Given the description of an element on the screen output the (x, y) to click on. 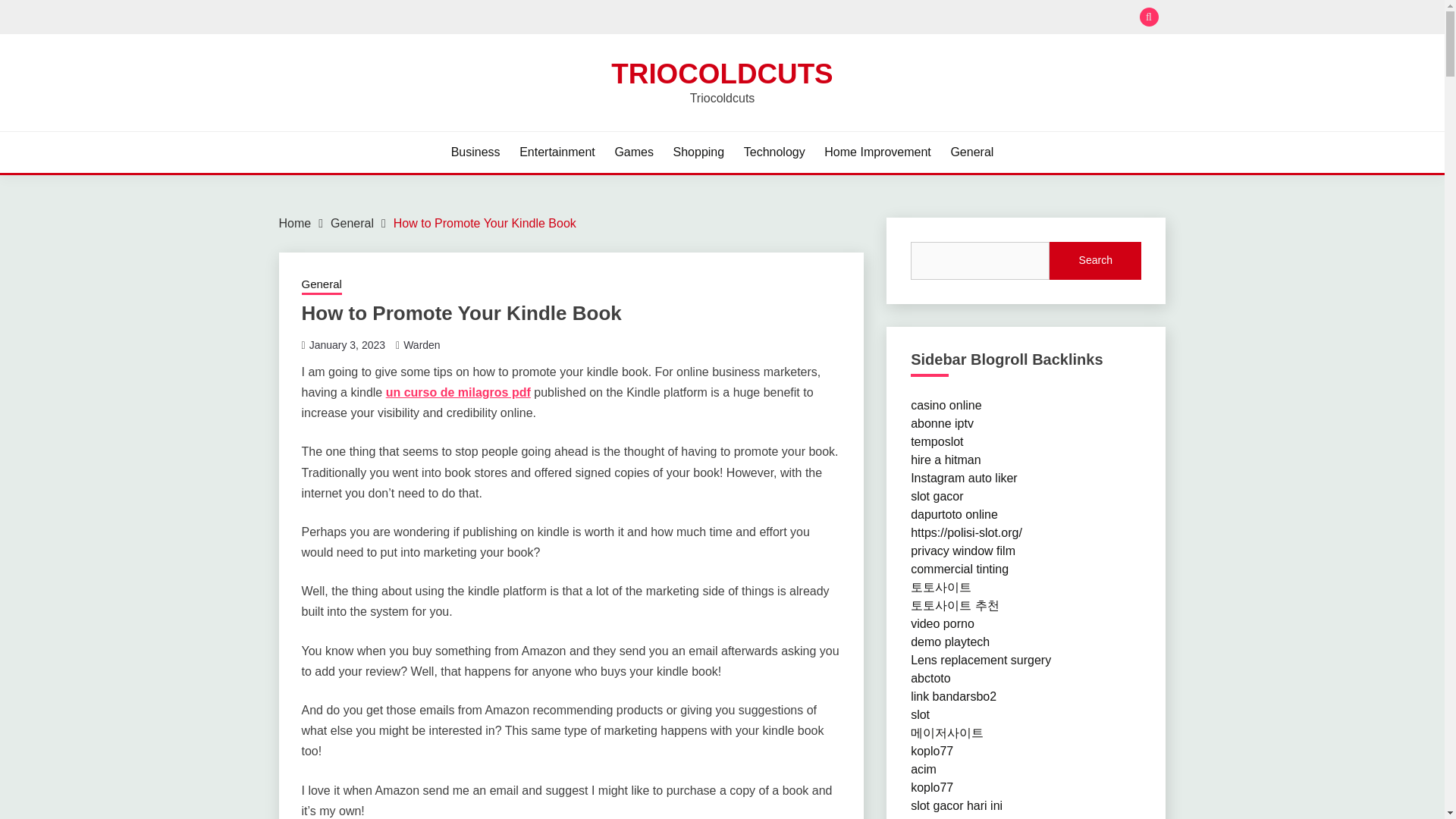
abonne iptv (942, 422)
Search (832, 18)
General (352, 223)
temposlot (936, 440)
General (321, 285)
TRIOCOLDCUTS (721, 73)
hire a hitman (946, 459)
January 3, 2023 (346, 345)
Shopping (698, 152)
Home Improvement (877, 152)
